Given the description of an element on the screen output the (x, y) to click on. 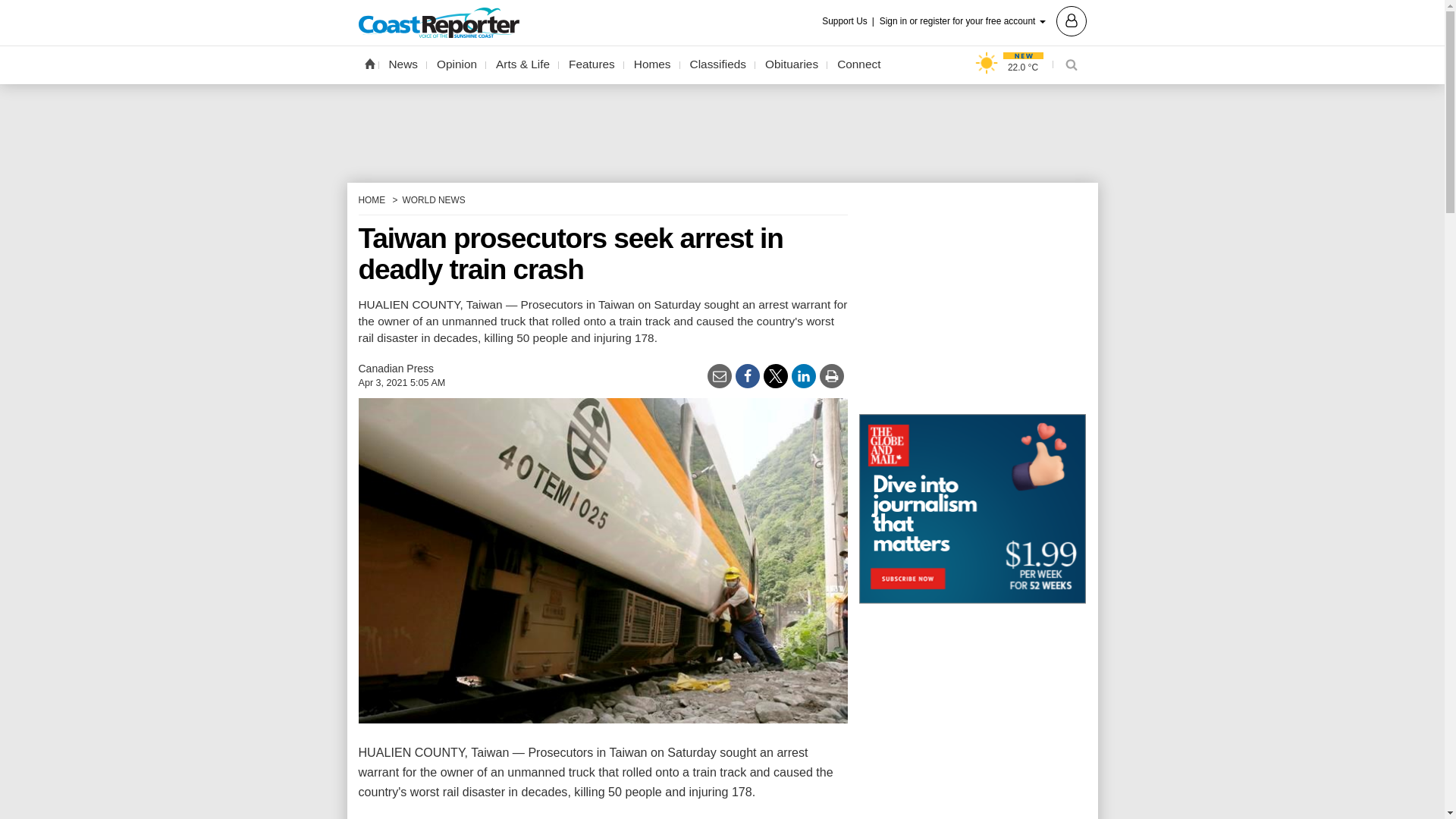
Home (368, 63)
Opinion (456, 64)
Support Us (849, 21)
Sign in or register for your free account (982, 20)
News (403, 64)
